Given the description of an element on the screen output the (x, y) to click on. 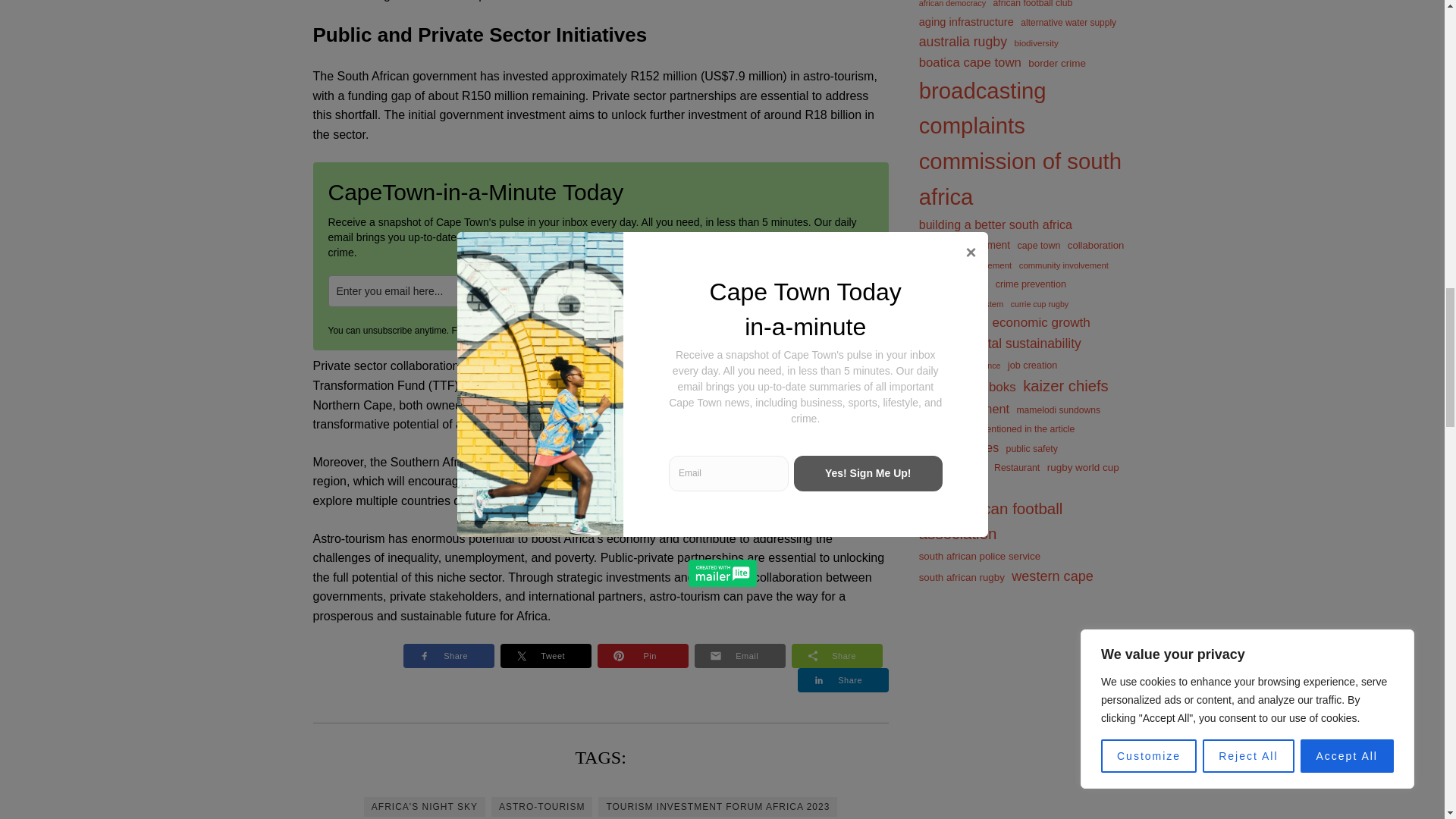
TOURISM INVESTMENT FORUM AFRICA 2023 (717, 806)
Yes! Sign Me Up! (776, 291)
AFRICA'S NIGHT SKY (424, 806)
ASTRO-TOURISM (542, 806)
